Given the description of an element on the screen output the (x, y) to click on. 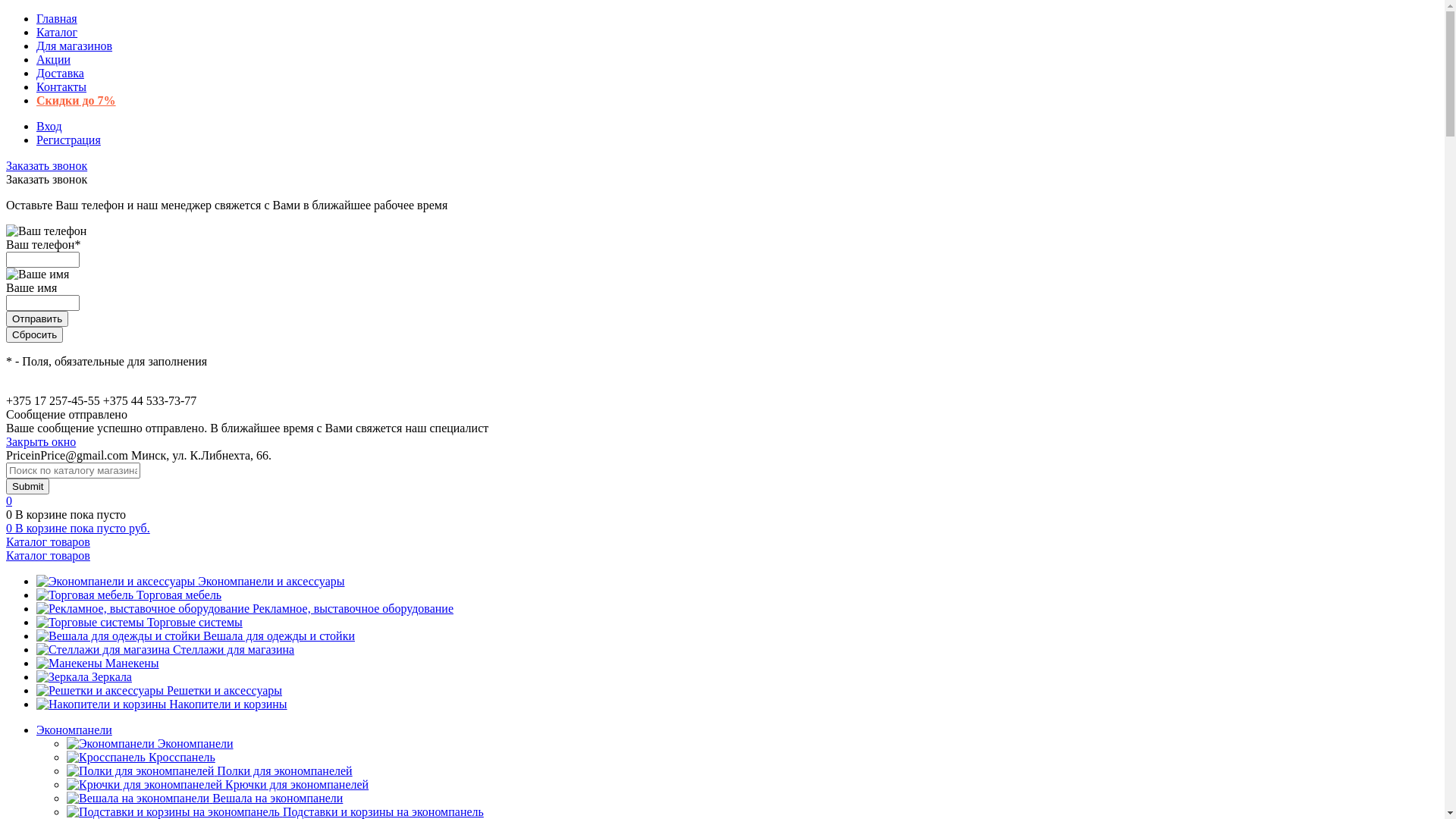
0 Element type: text (9, 500)
0 Element type: text (10, 527)
0 Element type: text (10, 514)
